Given the description of an element on the screen output the (x, y) to click on. 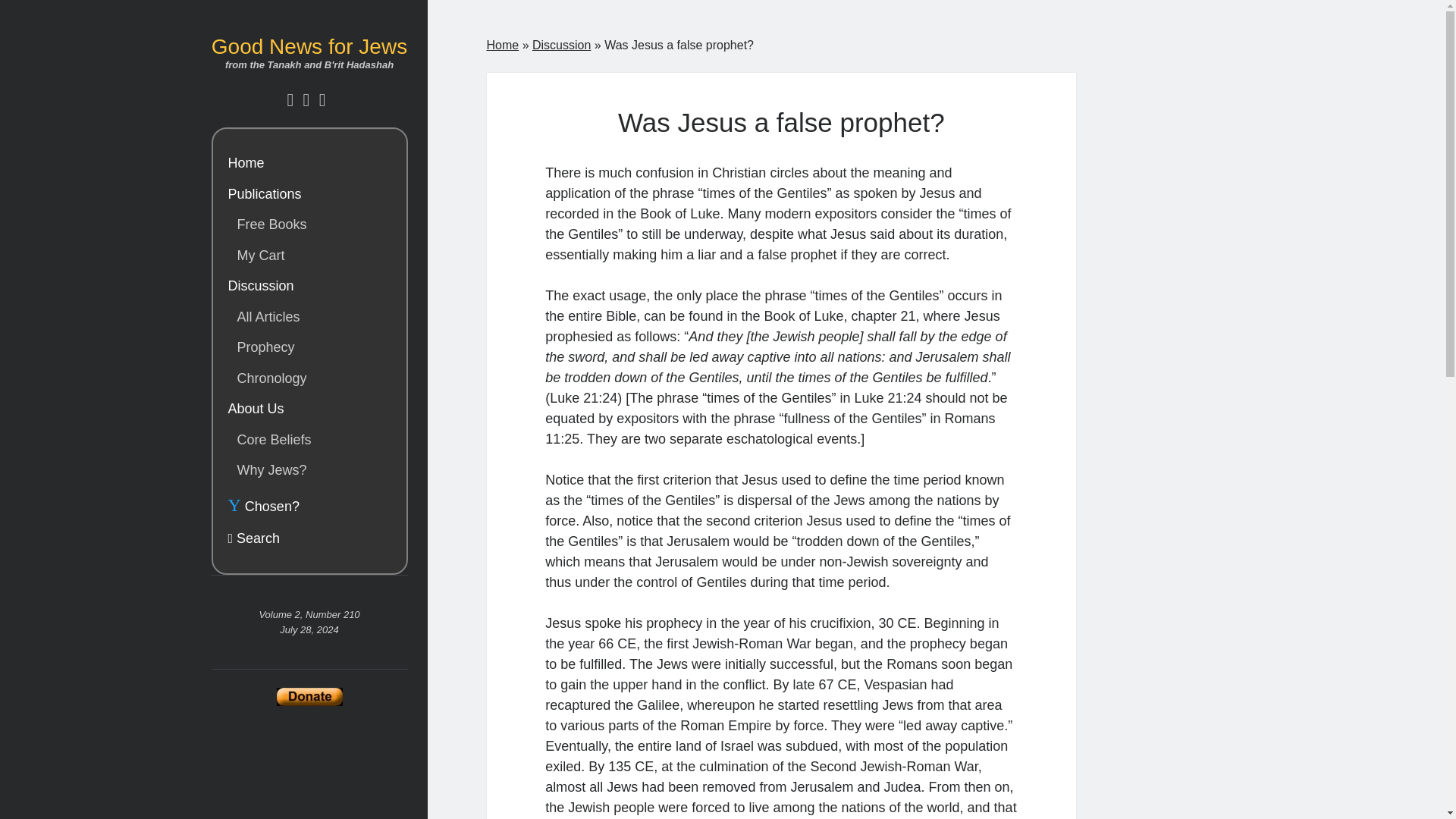
My Cart (259, 255)
Discussion (561, 44)
Prophecy (264, 347)
Why Jews? (270, 470)
Publications (264, 194)
All Articles (267, 317)
email-form (322, 99)
phone (306, 99)
Core Beliefs (273, 439)
Free Books (270, 224)
Good News for Jews (309, 46)
Y Chosen? (262, 504)
Home (502, 44)
email (290, 99)
Chronology (270, 378)
